Given the description of an element on the screen output the (x, y) to click on. 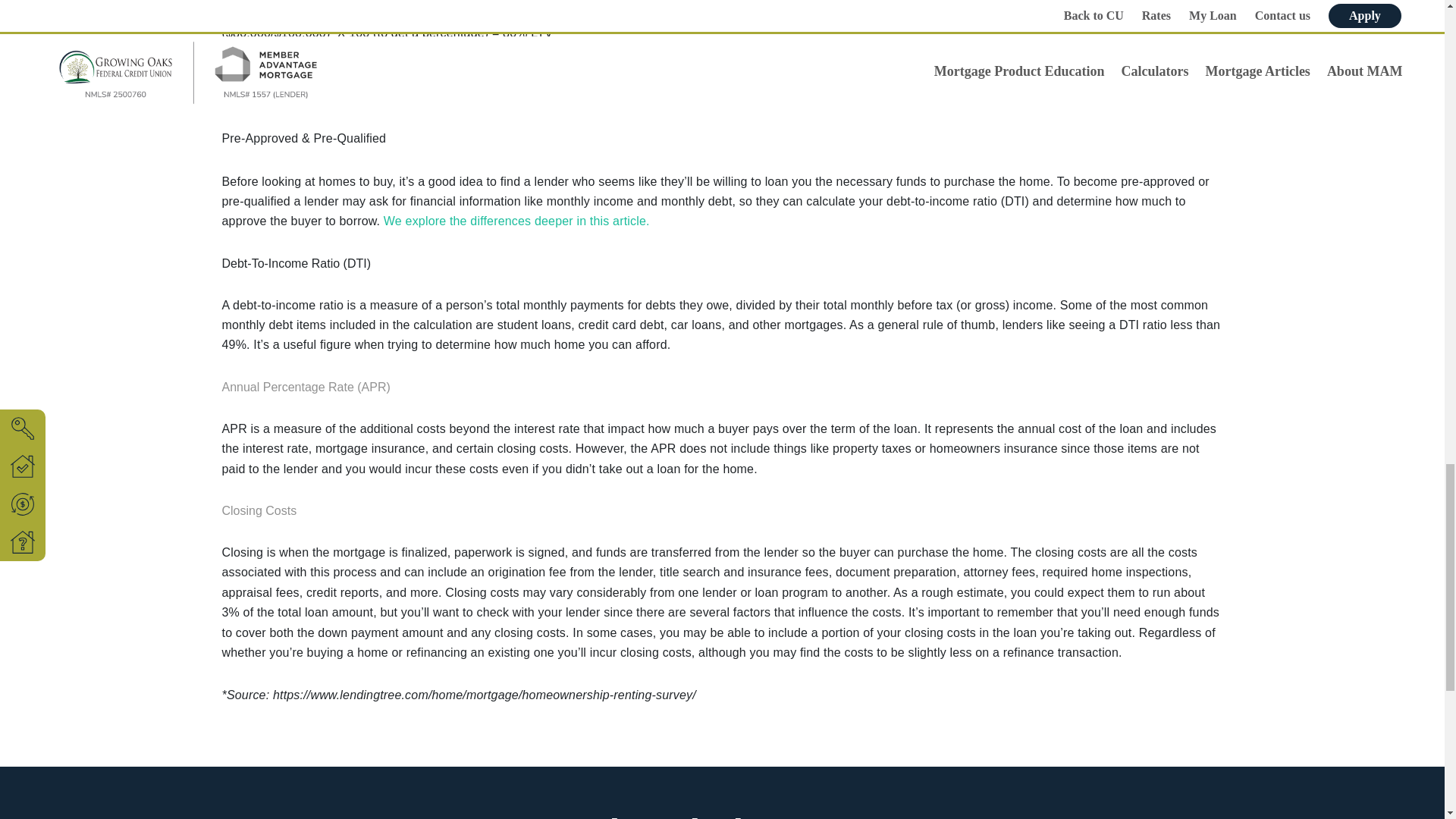
We explore the differences deeper in this article. (516, 220)
